Given the description of an element on the screen output the (x, y) to click on. 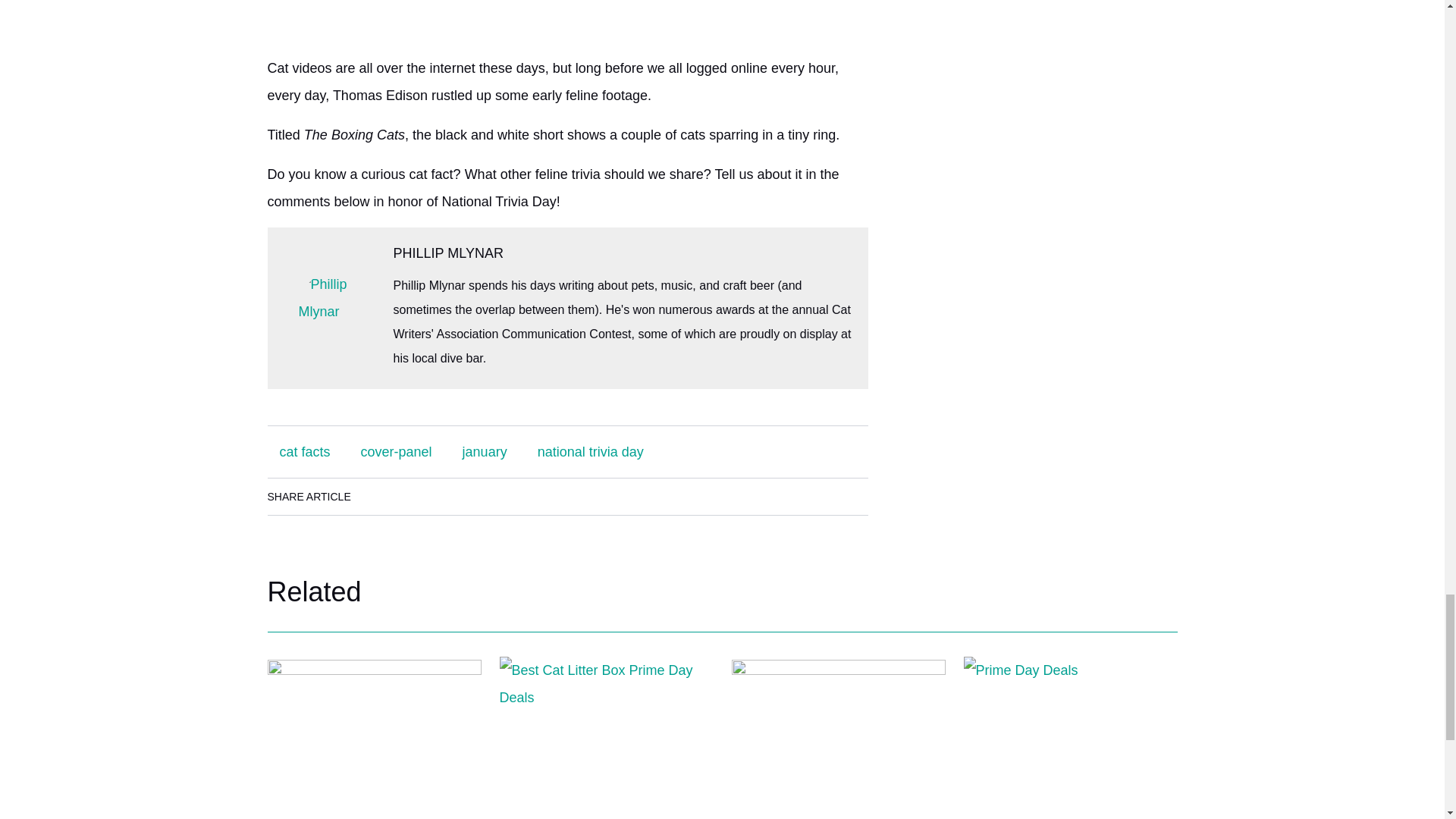
cat facts (304, 452)
cover-panel (396, 452)
january (484, 452)
national trivia day (590, 452)
10 Best Prime Day Deals on Cat Trees (837, 727)
PHILLIP MLYNAR (447, 253)
10 Best Prime Day Deals on Cat Litter Boxes (606, 727)
